Given the description of an element on the screen output the (x, y) to click on. 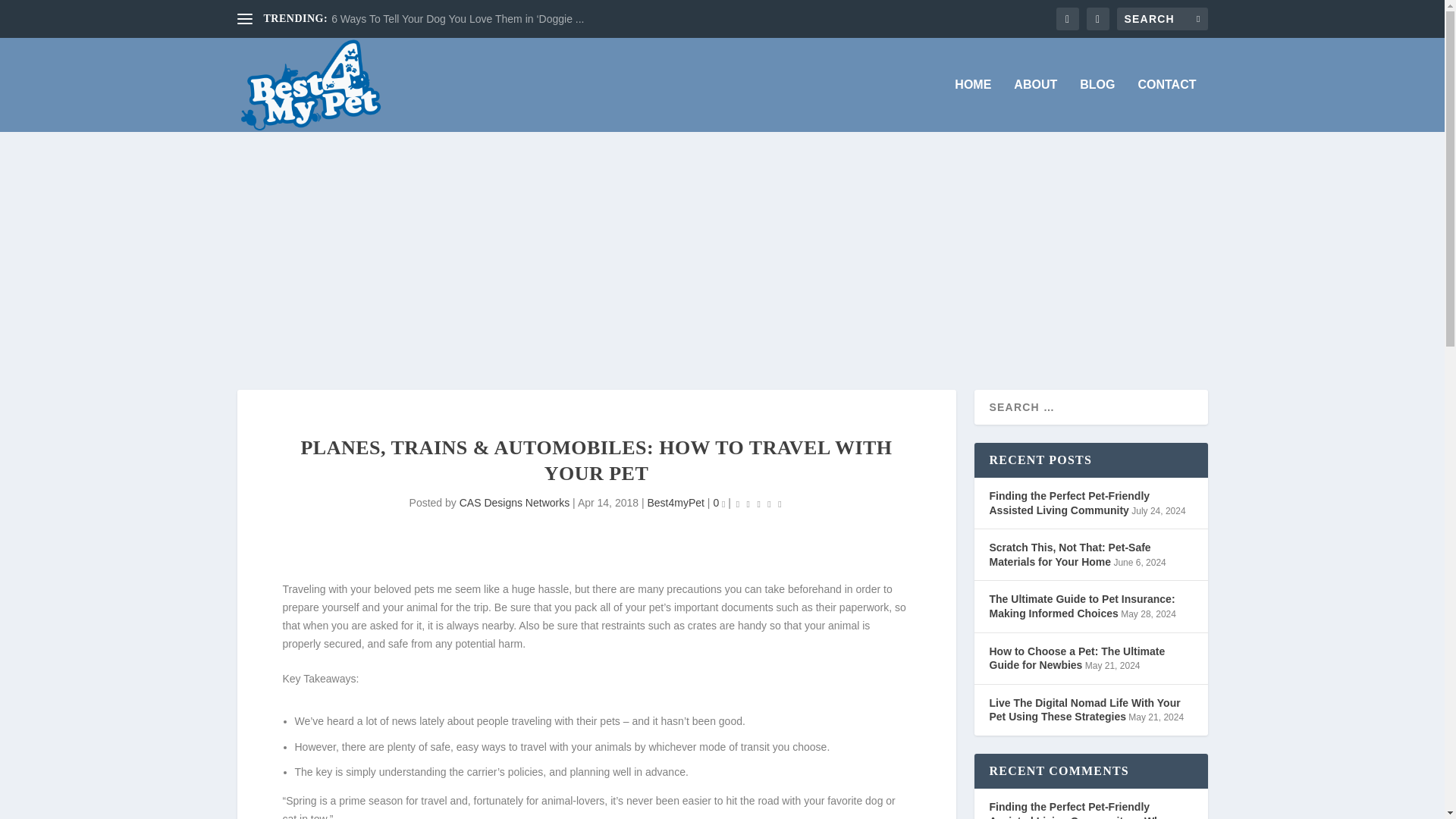
Best4myPet (674, 502)
Posts by CAS Designs Networks (515, 502)
Rating: 0.00 (758, 503)
CAS Designs Networks (515, 502)
0 (719, 502)
Search for: (1161, 18)
CONTACT (1166, 104)
